Given the description of an element on the screen output the (x, y) to click on. 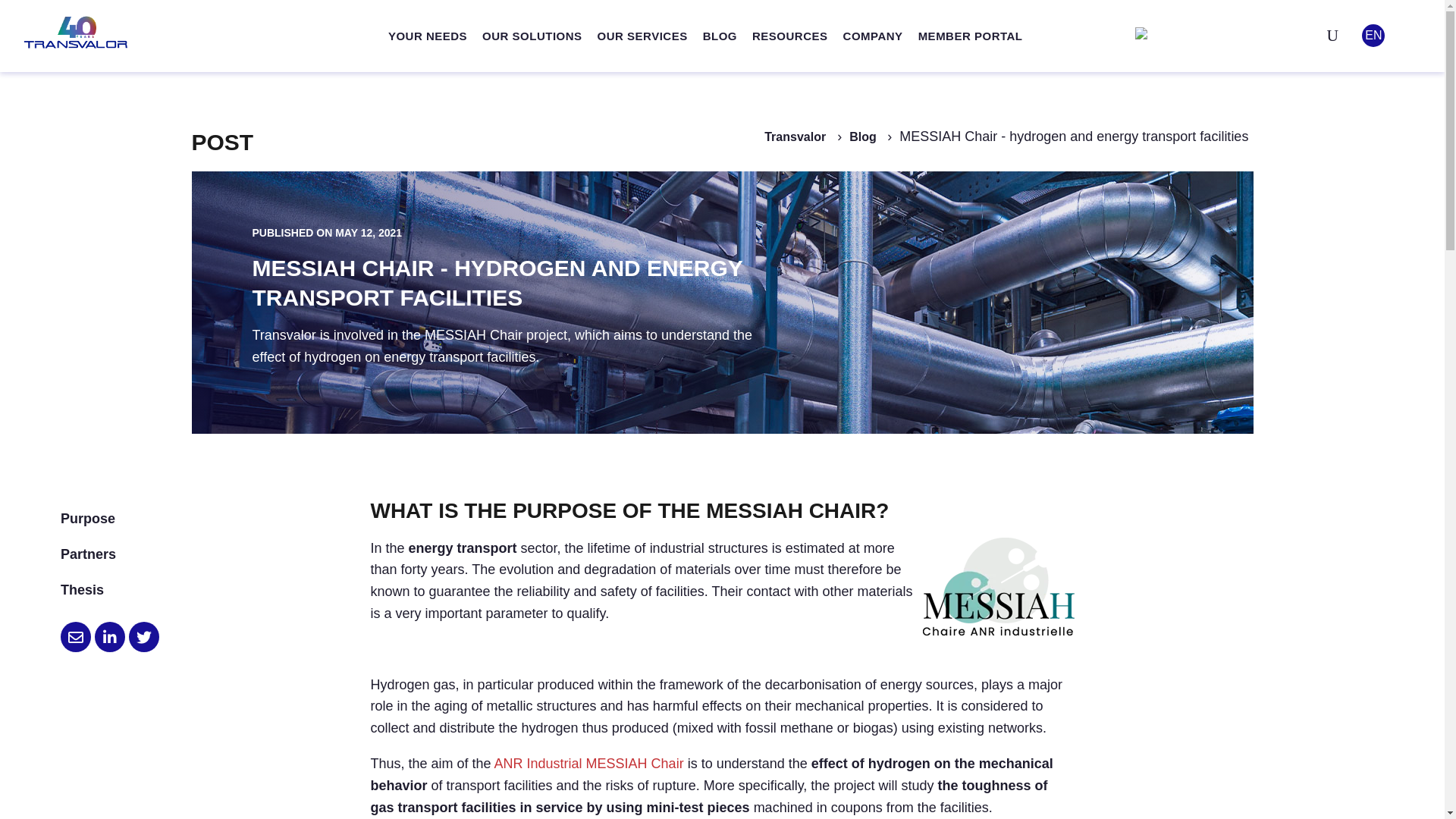
RESOURCES (789, 35)
OUR SERVICES (642, 35)
YOUR NEEDS (427, 35)
OUR SOLUTIONS (531, 35)
logo-transvalor (75, 32)
COMPANY (873, 35)
BLOG (719, 35)
